Given the description of an element on the screen output the (x, y) to click on. 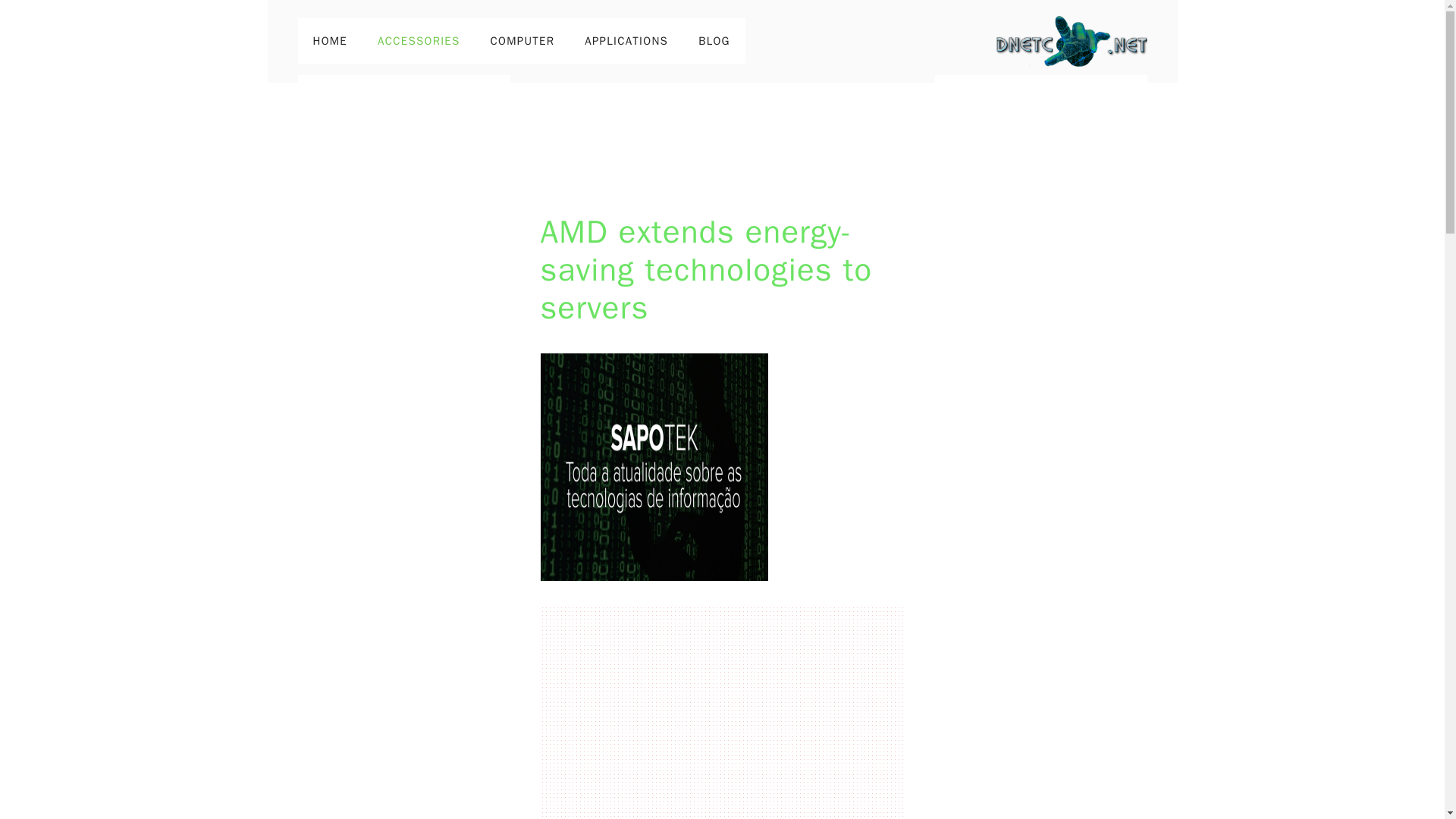
APPLICATIONS (625, 40)
COMPUTER (523, 40)
ACCESSORIES (419, 40)
HOME (329, 40)
BLOG (713, 40)
